Given the description of an element on the screen output the (x, y) to click on. 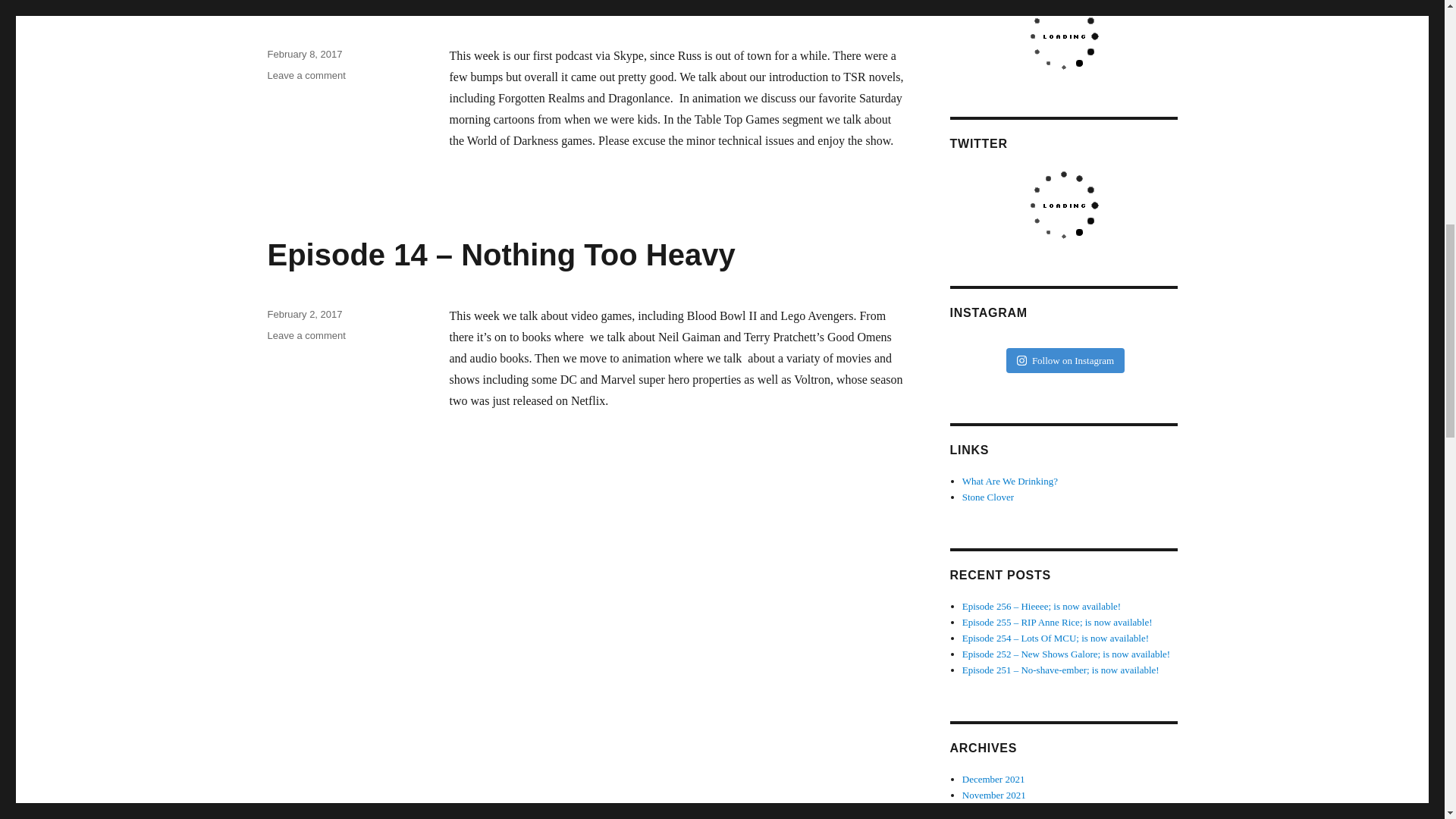
December 2021 (993, 778)
November 2021 (994, 794)
February 2, 2017 (304, 314)
Stone Clover (987, 496)
February 8, 2017 (304, 53)
Follow on Instagram (1065, 360)
What Are We Drinking? (1010, 480)
